Given the description of an element on the screen output the (x, y) to click on. 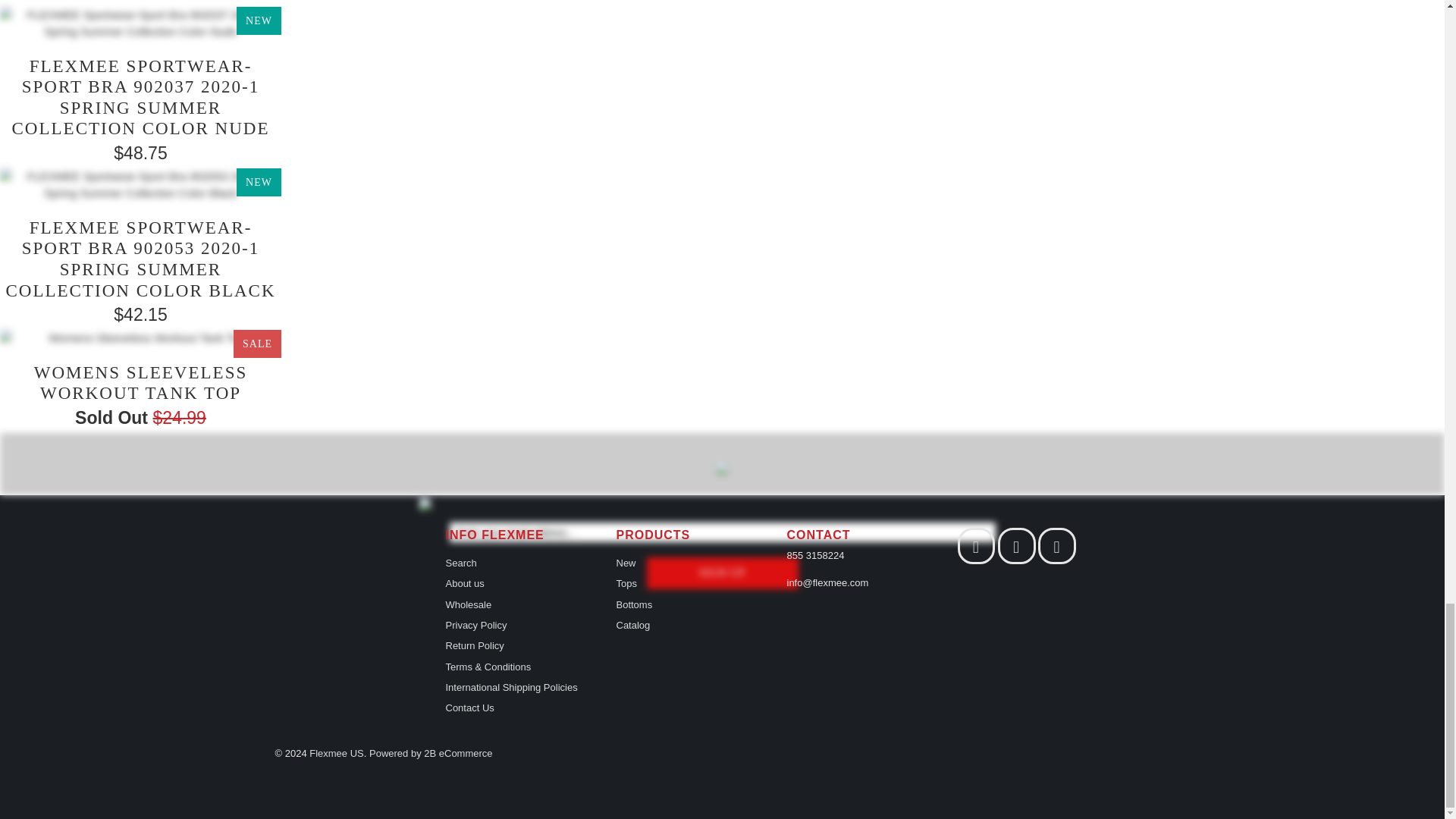
Sign Up (721, 572)
Flexmee US on Instagram (1016, 547)
Flexmee US on Facebook (975, 547)
Email Flexmee US (1056, 547)
